Given the description of an element on the screen output the (x, y) to click on. 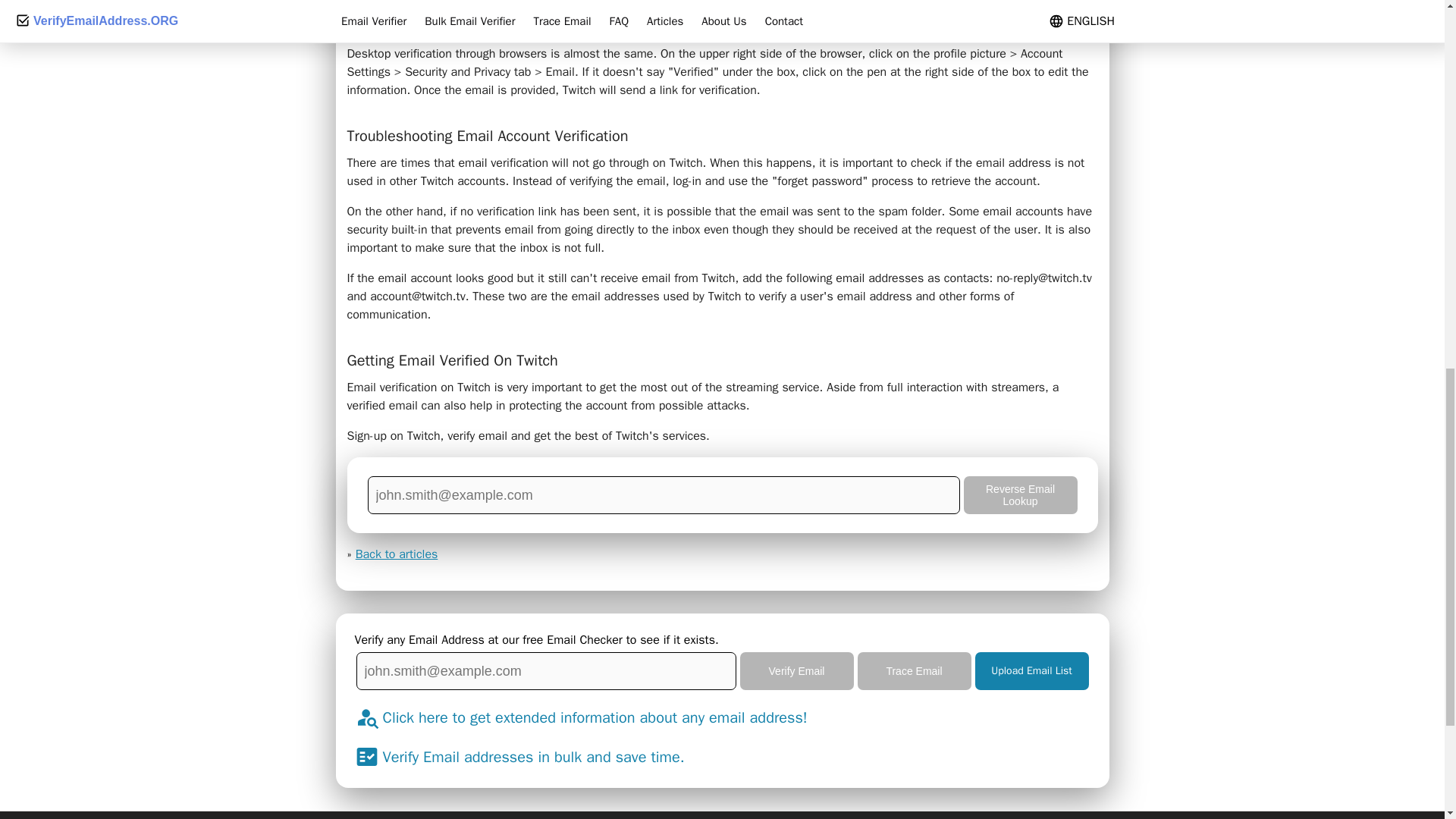
Trace Email (914, 670)
Back to articles (396, 554)
Verify Email addresses in bulk and save time. (532, 756)
Upload Email List (1032, 670)
Reverse Email Lookup (1019, 494)
Verify Email (796, 670)
